Given the description of an element on the screen output the (x, y) to click on. 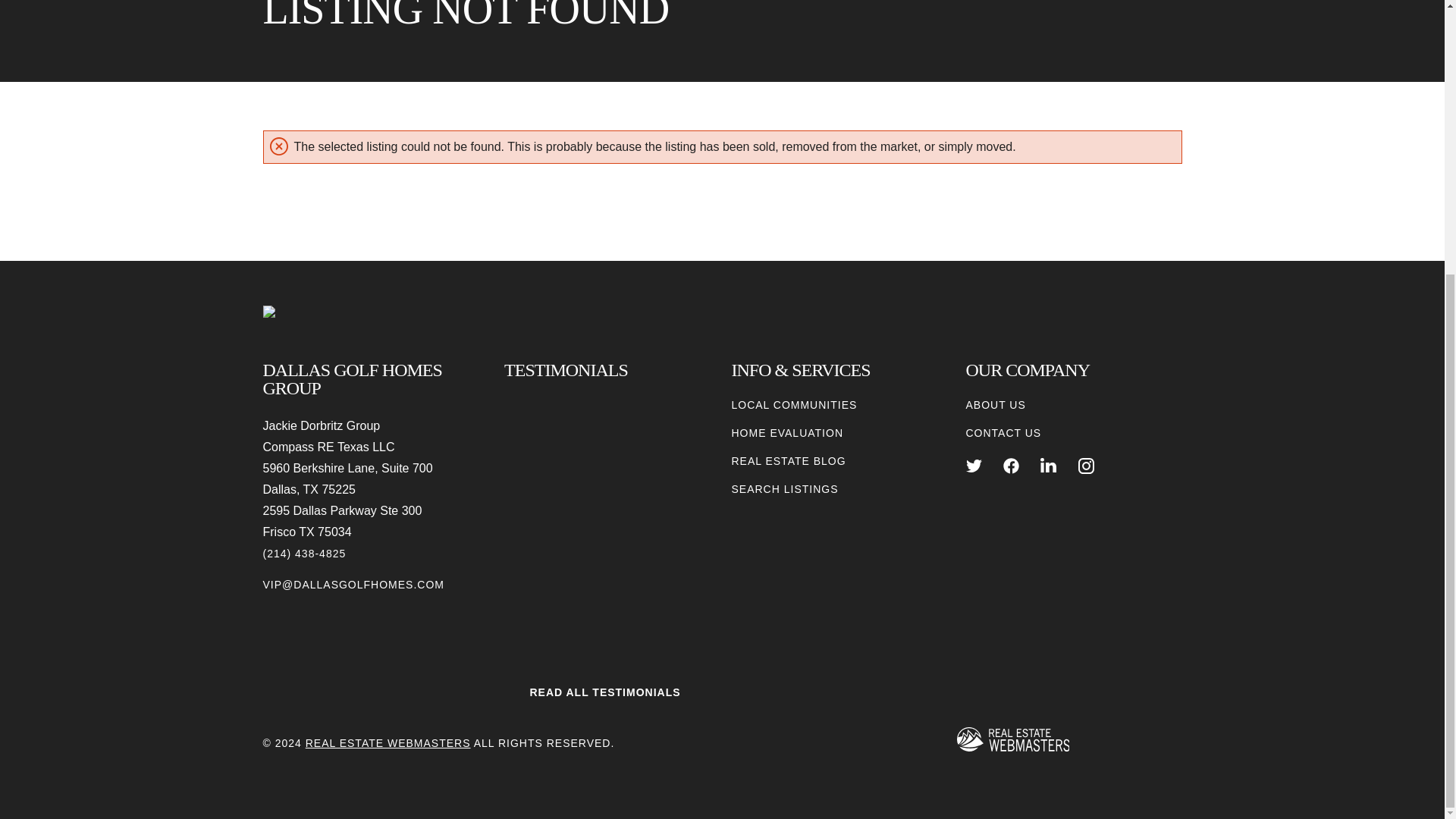
TWITTER (973, 465)
LINKEDIN (1049, 465)
FACEBOOK (1011, 465)
